Given the description of an element on the screen output the (x, y) to click on. 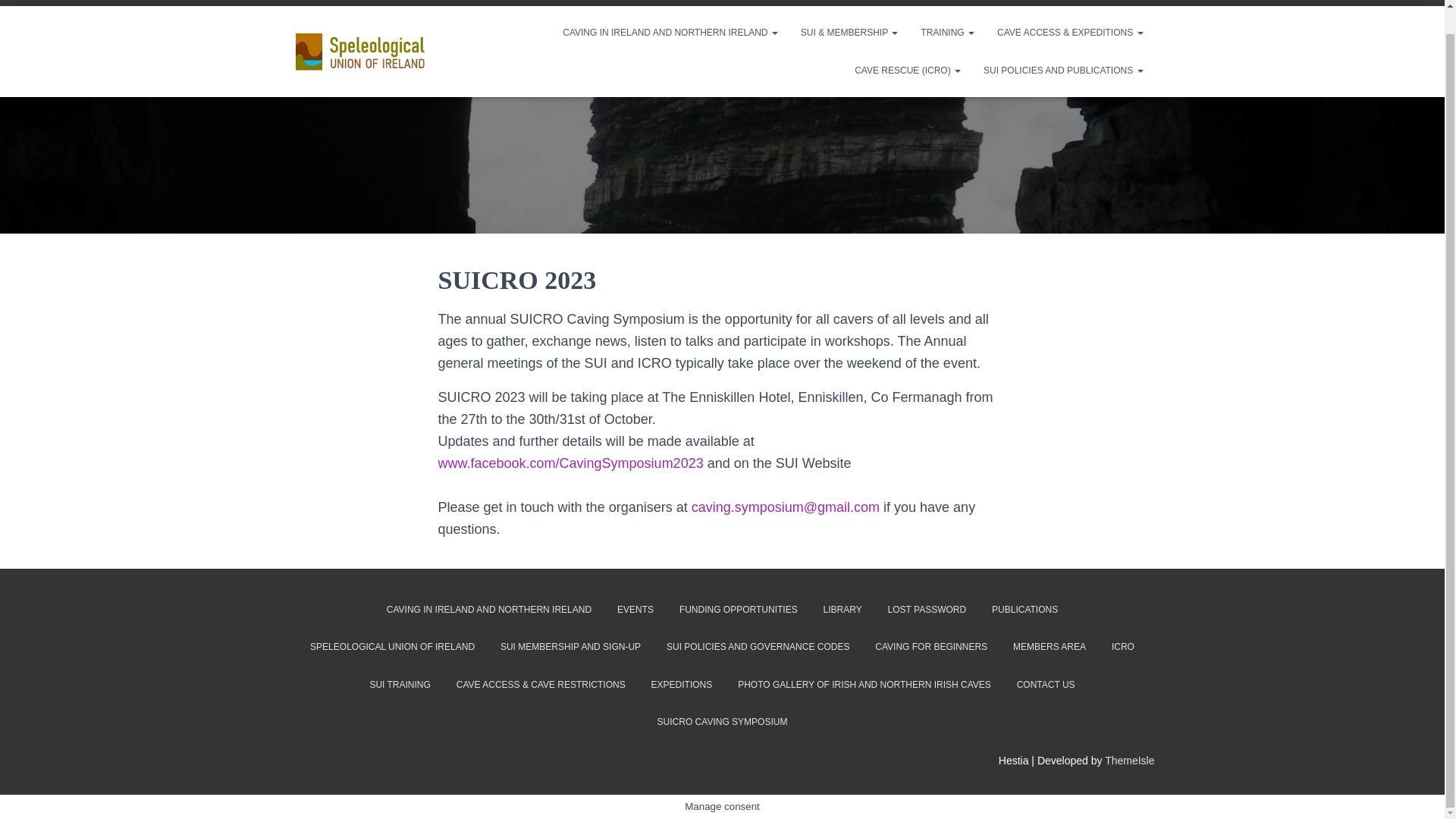
SUI library (919, 2)
SUI library (919, 2)
Contact us (866, 2)
Caving in Ireland and Northern Ireland (670, 32)
Contact us (866, 2)
CAVING IN IRELAND AND NORTHERN IRELAND (670, 32)
Caving in Ireland and Northern Ireland (361, 51)
Events (1140, 2)
Events (1140, 2)
